Given the description of an element on the screen output the (x, y) to click on. 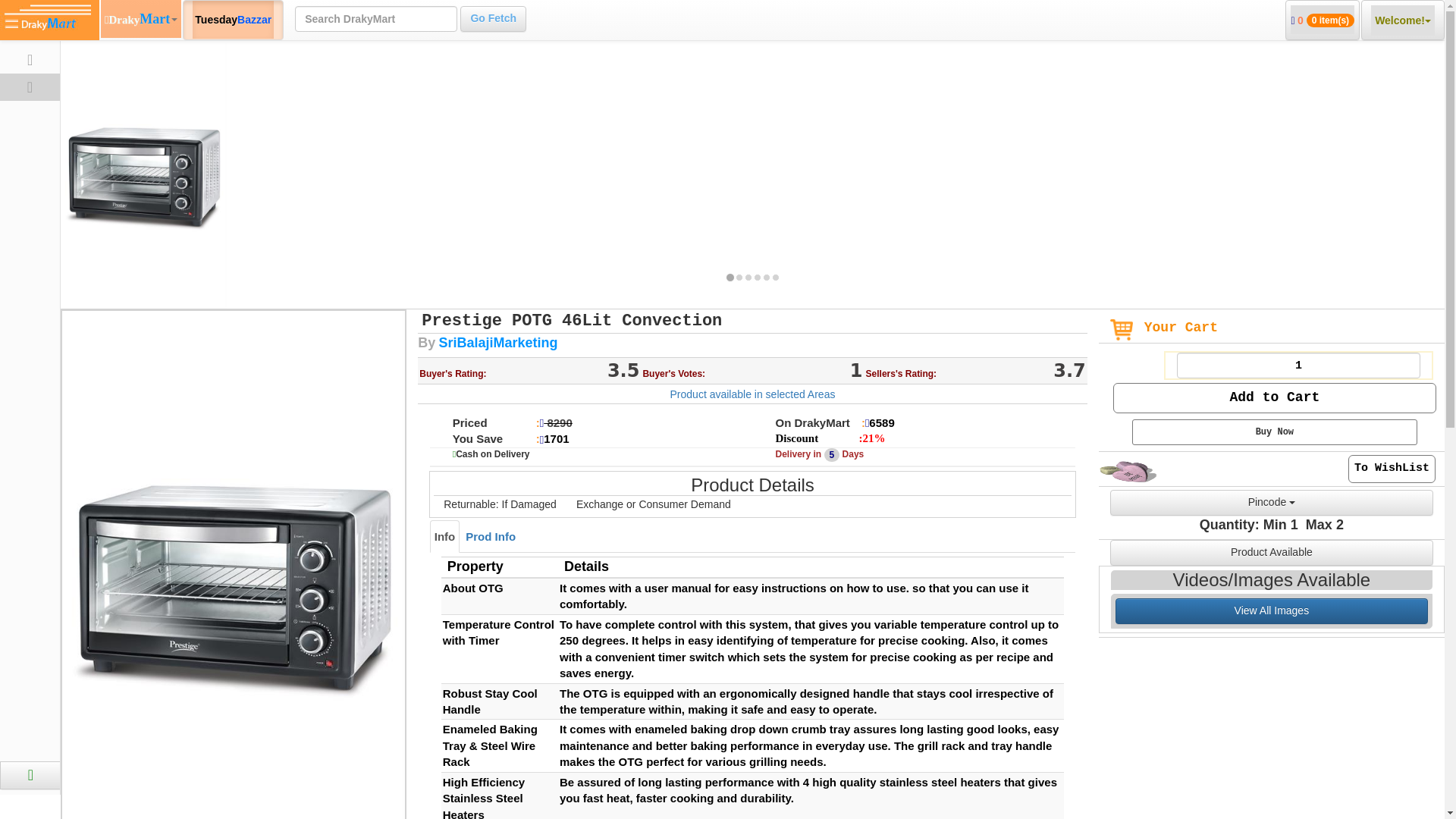
My Cart! Click to view Cart... (1322, 20)
TuesdayBazzar (232, 19)
Pincode (1270, 502)
Info (444, 536)
Login (94, 775)
Add to Cart (1274, 398)
Click to view Product Available Areas (752, 394)
Prod Info (490, 536)
Welcome! (1402, 20)
Please enter Quantity Max 2 (1298, 365)
